Given the description of an element on the screen output the (x, y) to click on. 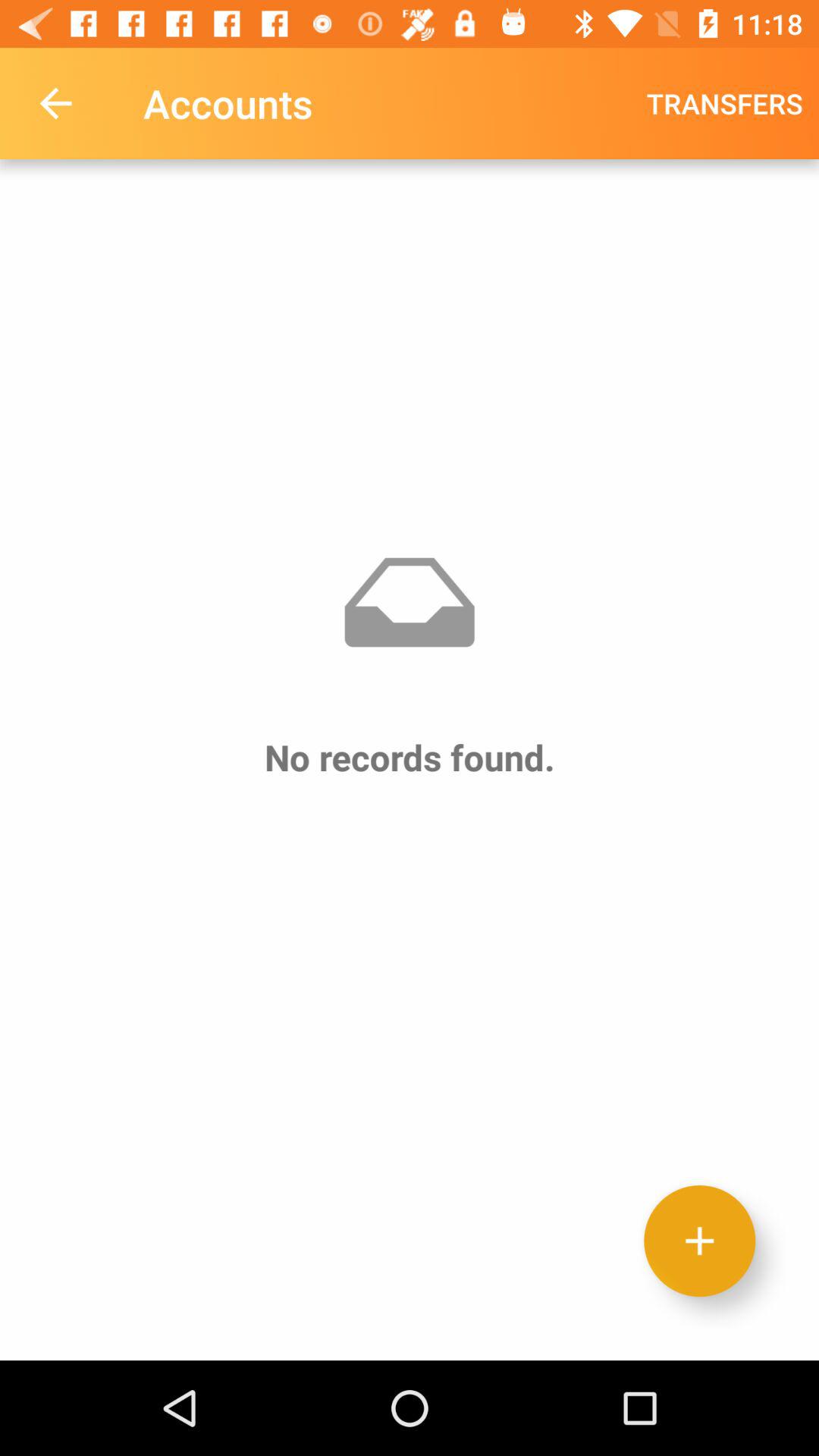
launch icon below the no records found. item (699, 1240)
